Given the description of an element on the screen output the (x, y) to click on. 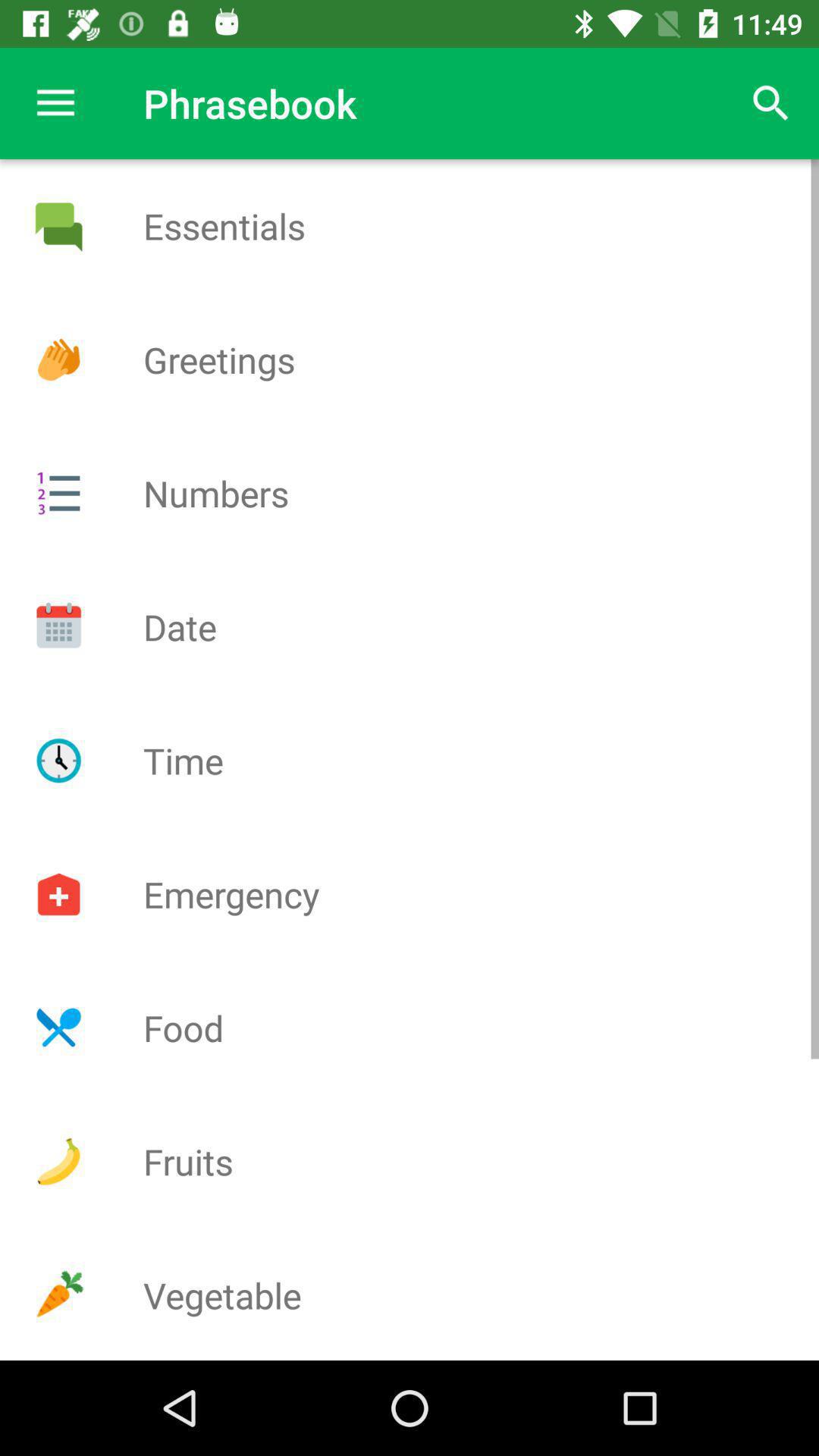
select vegetable option (58, 1295)
